Given the description of an element on the screen output the (x, y) to click on. 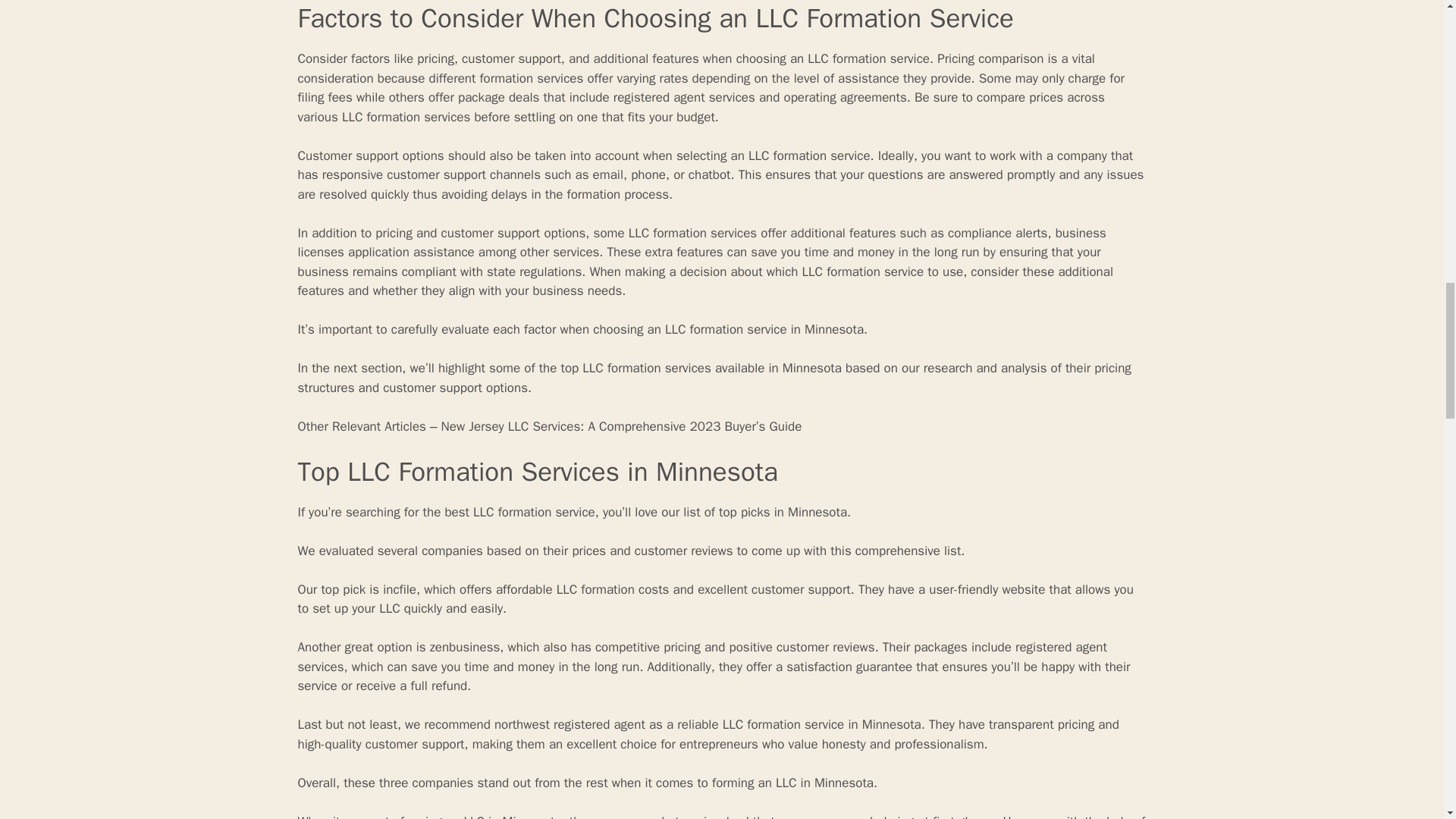
zenbusiness (464, 647)
northwest registered agent (570, 724)
incfile (399, 589)
registered agent (658, 97)
Incfile Review - Make the Most of LLC Formation Services (399, 589)
registered agent service (701, 656)
